Given the description of an element on the screen output the (x, y) to click on. 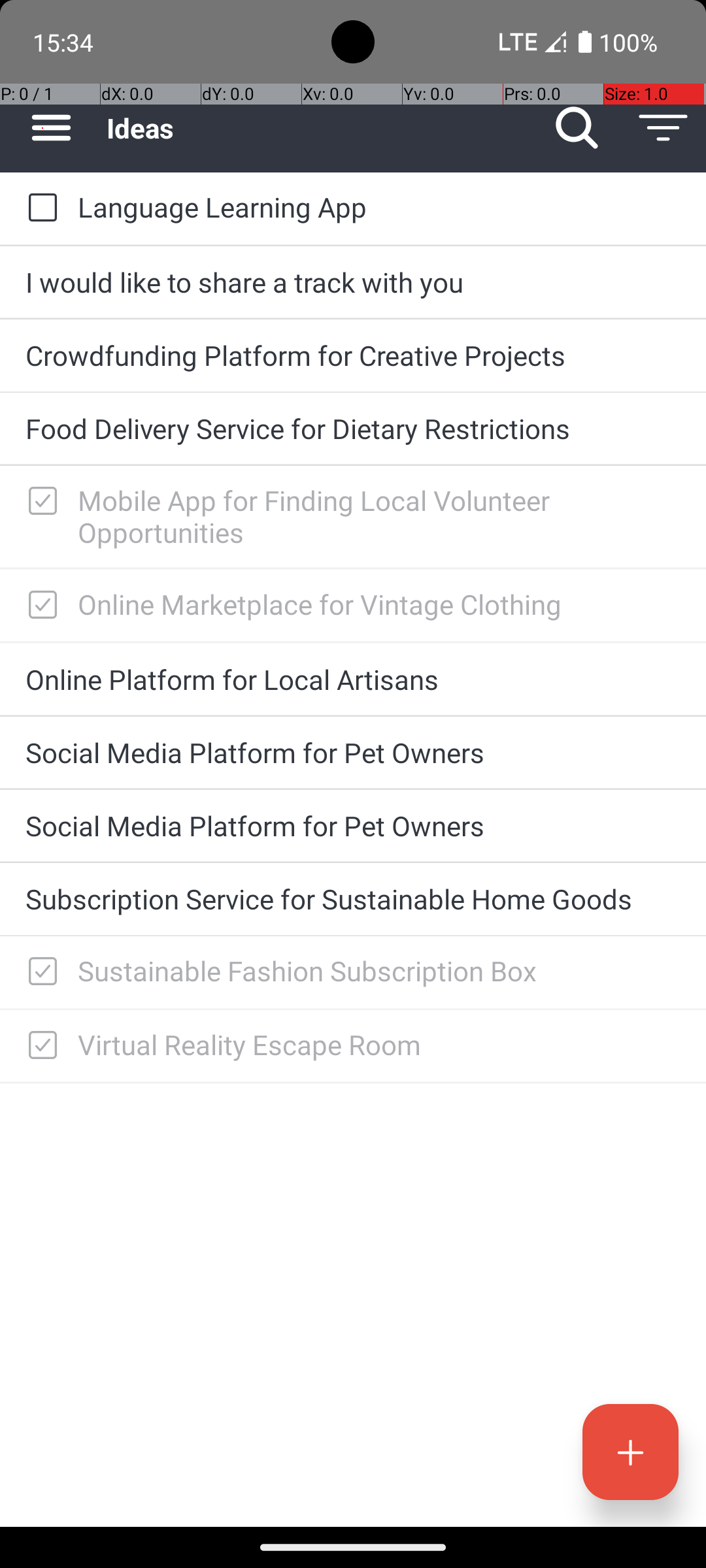
to-do: Language Learning App Element type: android.widget.CheckBox (38, 208)
Language Learning App Element type: android.widget.TextView (378, 206)
I would like to share a track with you Element type: android.widget.TextView (352, 281)
Crowdfunding Platform for Creative Projects Element type: android.widget.TextView (352, 354)
Food Delivery Service for Dietary Restrictions Element type: android.widget.TextView (352, 427)
to-do: Mobile App for Finding Local Volunteer Opportunities Element type: android.widget.CheckBox (38, 501)
Mobile App for Finding Local Volunteer Opportunities Element type: android.widget.TextView (378, 515)
Online Platform for Local Artisans Element type: android.widget.TextView (352, 678)
Subscription Service for Sustainable Home Goods Element type: android.widget.TextView (352, 898)
to-do: Sustainable Fashion Subscription Box Element type: android.widget.CheckBox (38, 972)
Sustainable Fashion Subscription Box Element type: android.widget.TextView (378, 970)
to-do: Virtual Reality Escape Room Element type: android.widget.CheckBox (38, 1045)
Virtual Reality Escape Room Element type: android.widget.TextView (378, 1043)
